Given the description of an element on the screen output the (x, y) to click on. 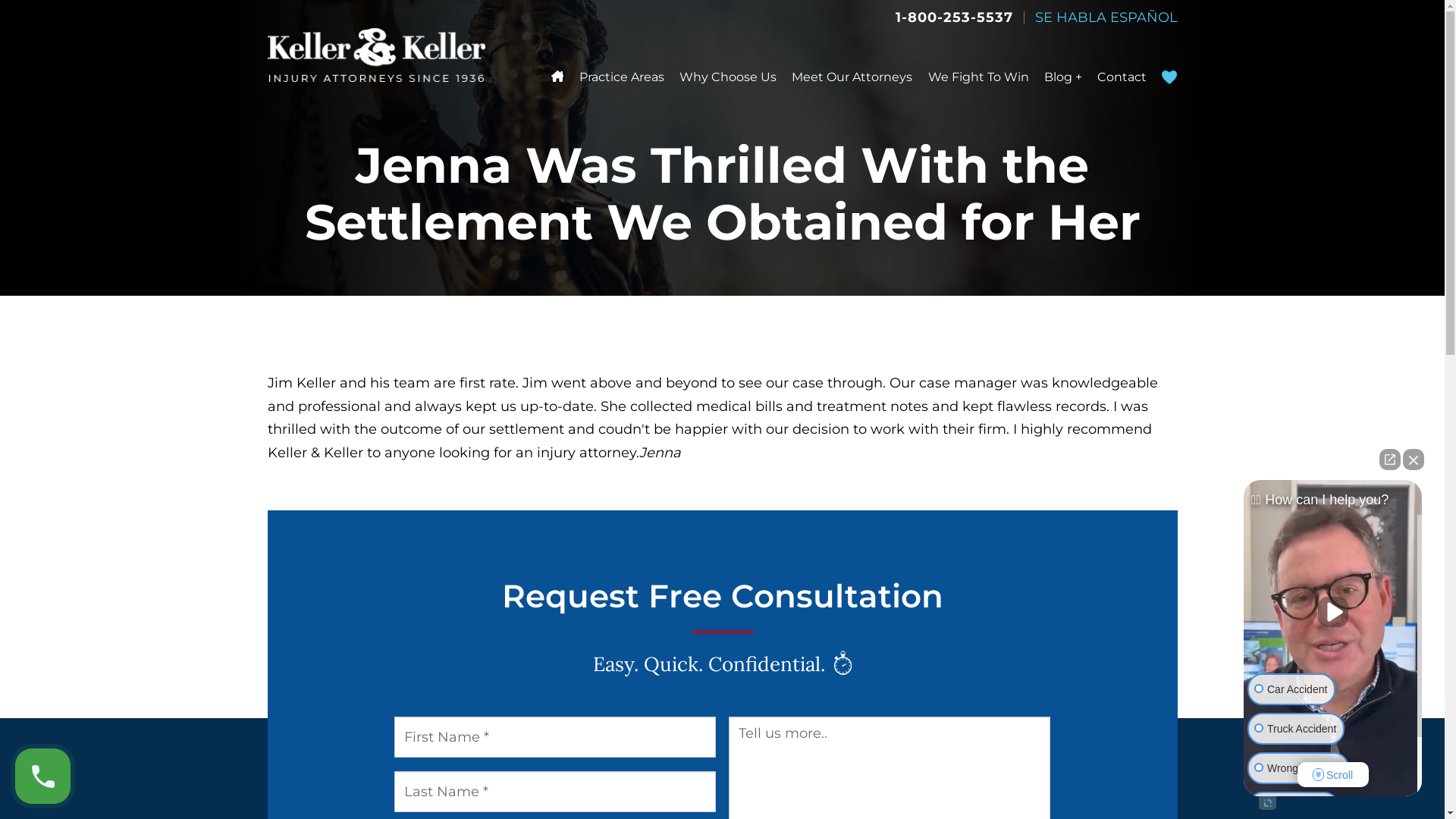
Blog + Element type: text (1063, 77)
Meet Our Attorneys Element type: text (851, 77)
Practice Areas Element type: text (621, 77)
Why Choose Us Element type: text (727, 77)
1-800-253-5537 Element type: text (953, 17)
Contact Element type: text (1121, 77)
We Fight To Win Element type: text (978, 77)
